Given the description of an element on the screen output the (x, y) to click on. 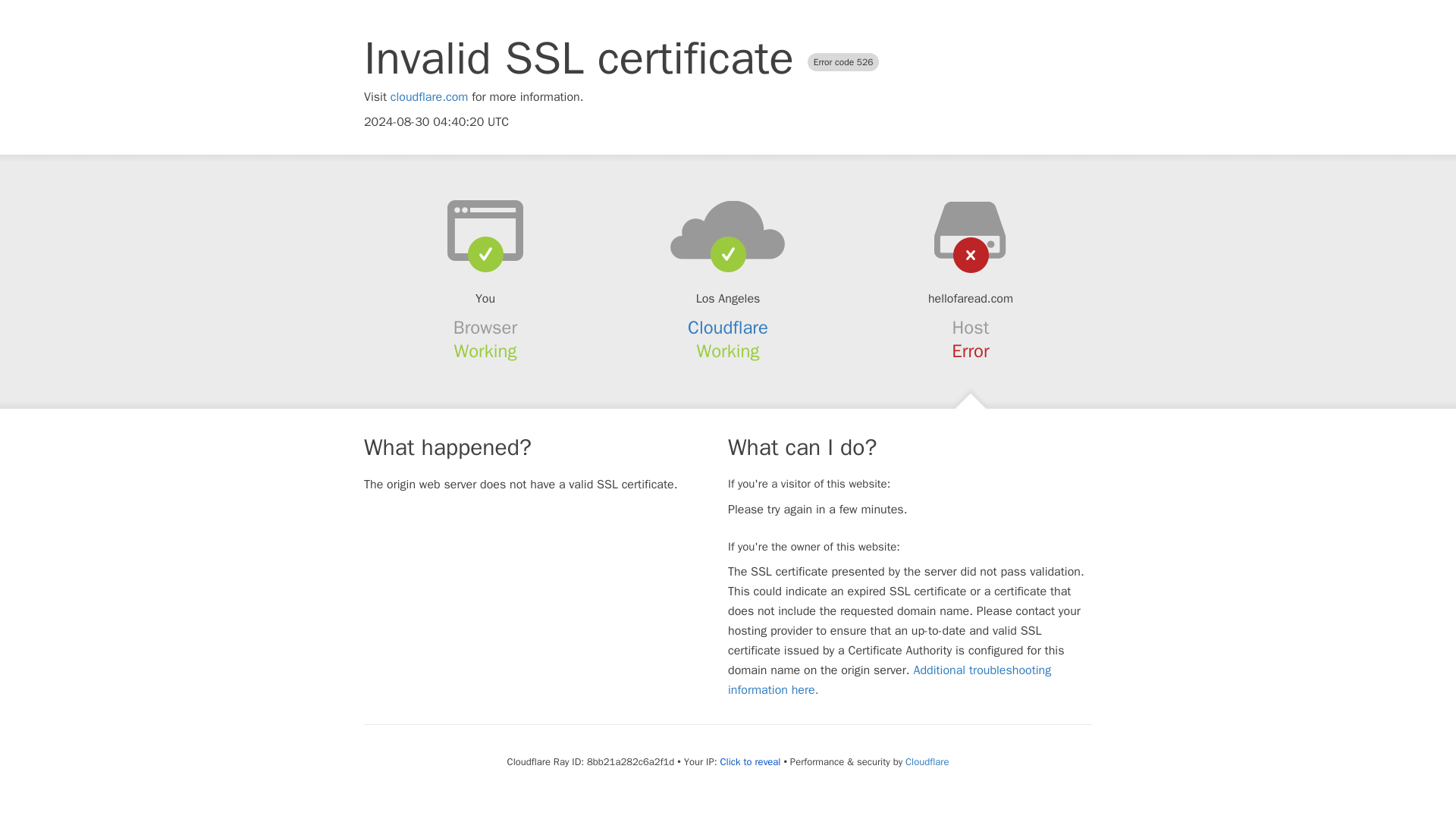
Cloudflare (927, 761)
Click to reveal (750, 762)
Cloudflare (727, 327)
Additional troubleshooting information here. (889, 679)
cloudflare.com (429, 96)
